Given the description of an element on the screen output the (x, y) to click on. 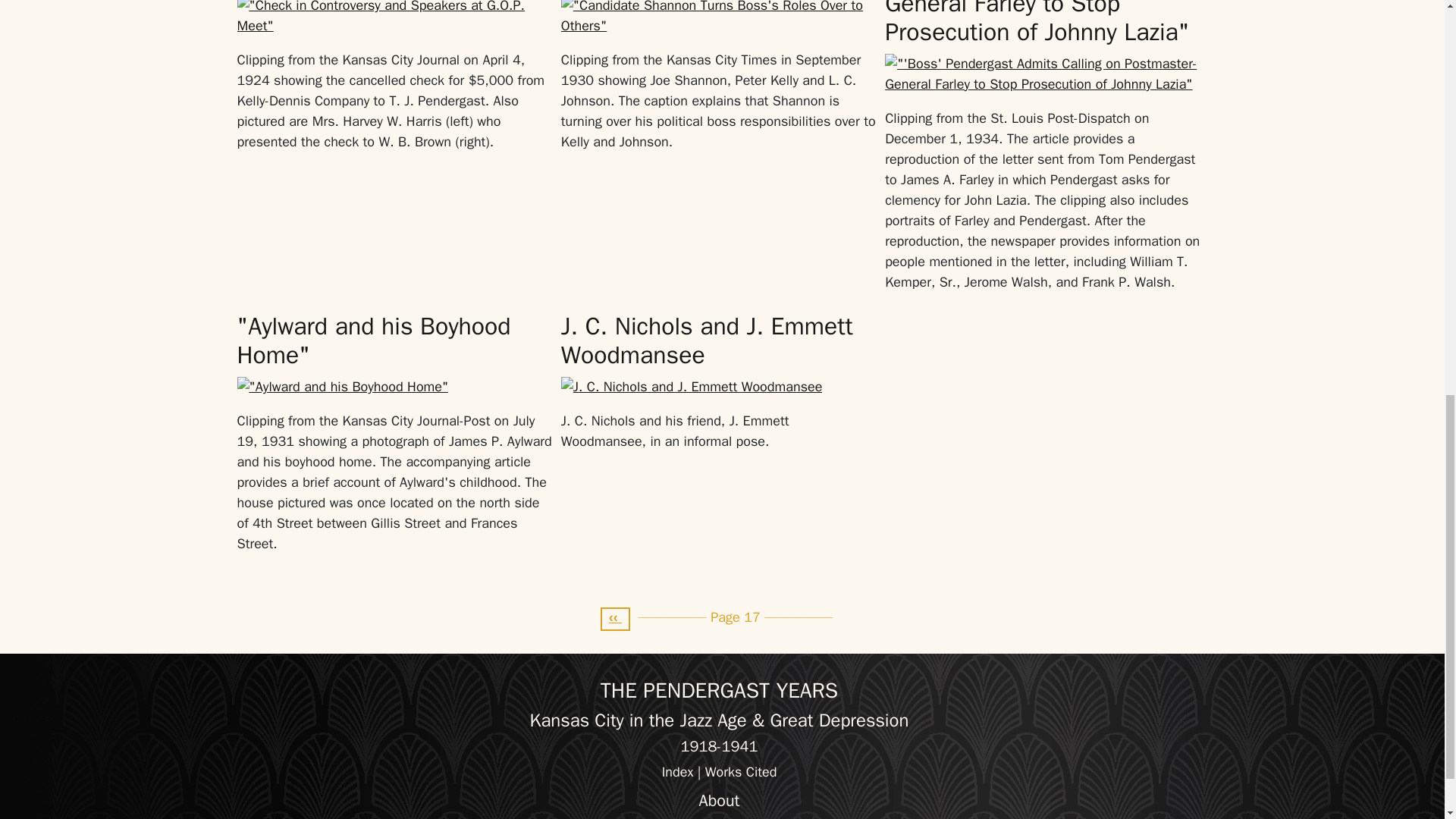
Index (678, 771)
Works Cited (740, 771)
J. C. Nichols and J. Emmett Woodmansee (706, 341)
About (718, 800)
"Aylward and his Boyhood Home" (373, 341)
